Given the description of an element on the screen output the (x, y) to click on. 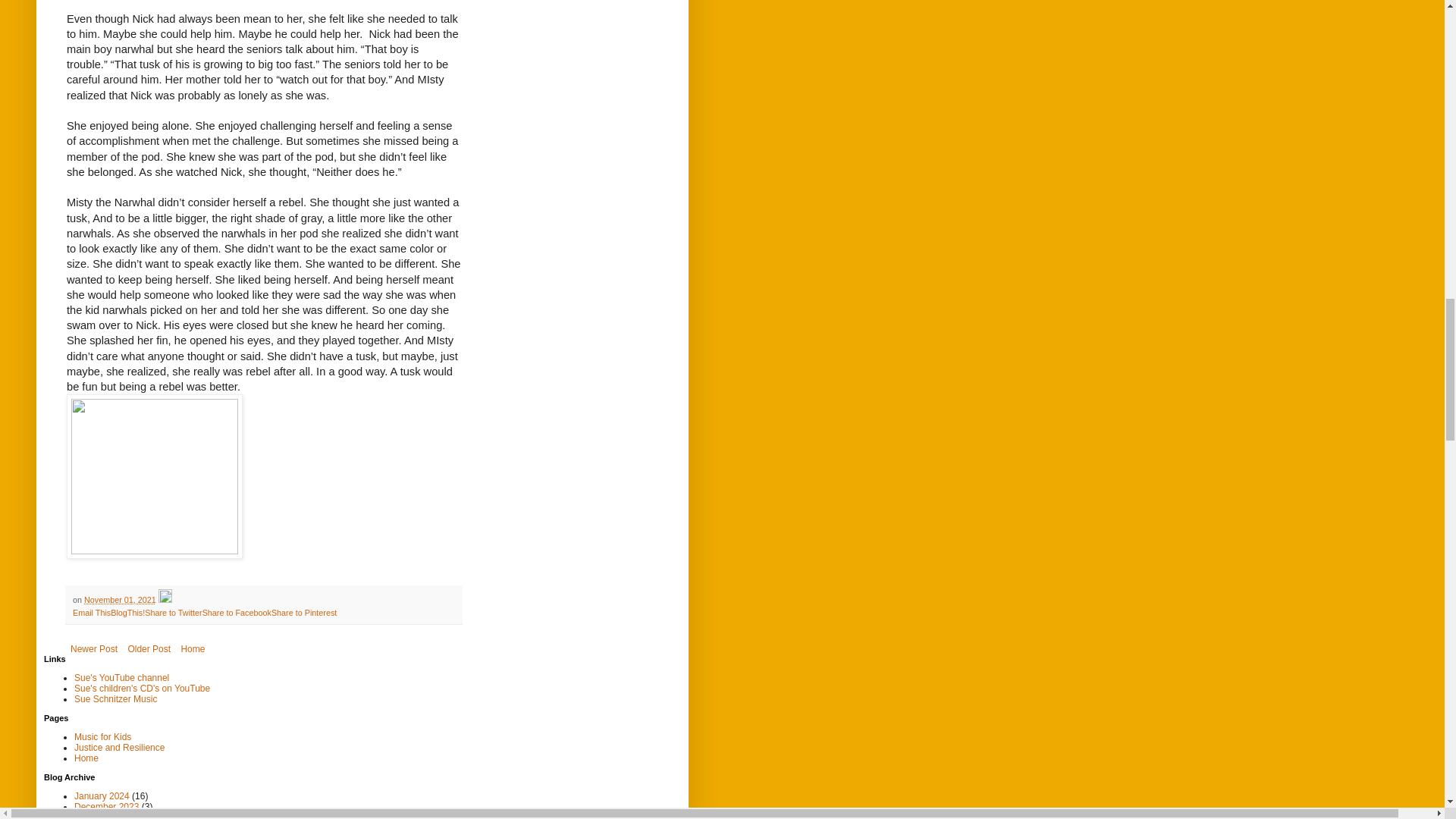
January 2024 (101, 796)
Sue's children's CD's on YouTube (141, 688)
November 2023 (106, 815)
Newer Post (93, 648)
November 01, 2021 (119, 599)
Justice and Resilience (119, 747)
Email This (91, 612)
Edit Post (164, 599)
BlogThis! (127, 612)
Newer Post (93, 648)
Music for Kids (102, 737)
Share to Twitter (173, 612)
Share to Pinterest (303, 612)
Email This (91, 612)
Share to Facebook (236, 612)
